Given the description of an element on the screen output the (x, y) to click on. 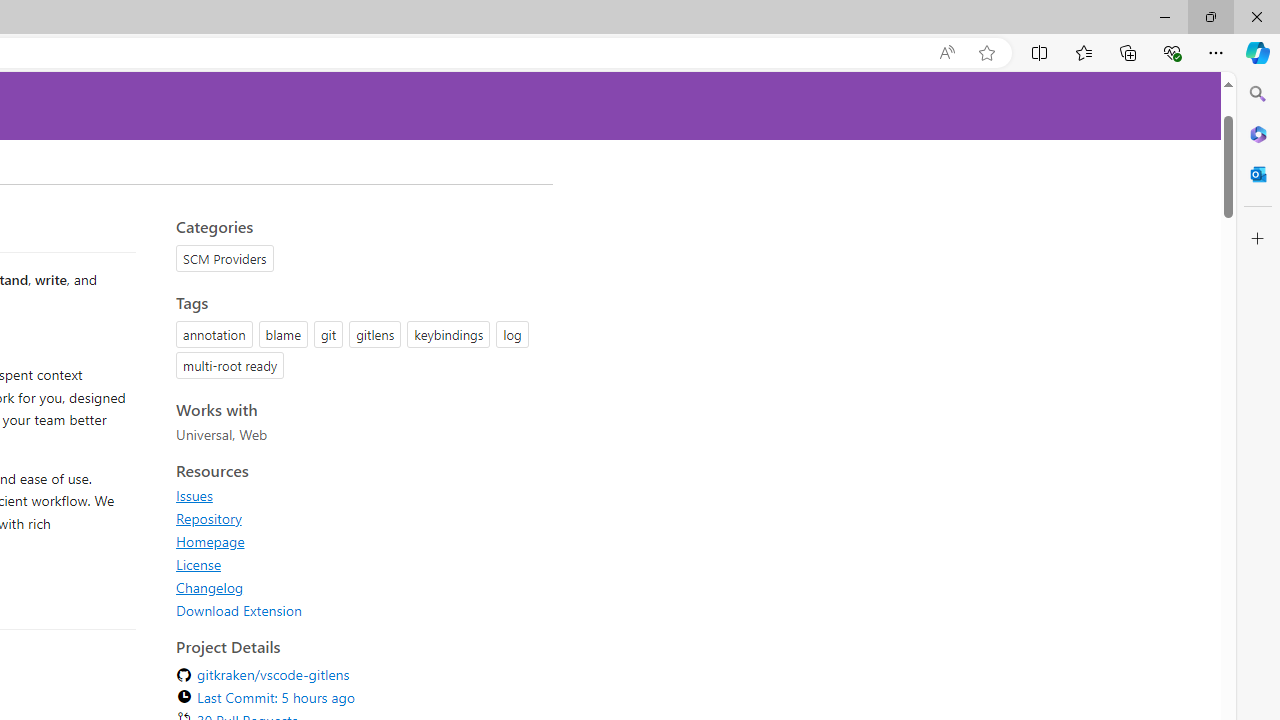
Download Extension (358, 610)
Repository (208, 518)
Repository (358, 518)
Changelog (210, 587)
